Given the description of an element on the screen output the (x, y) to click on. 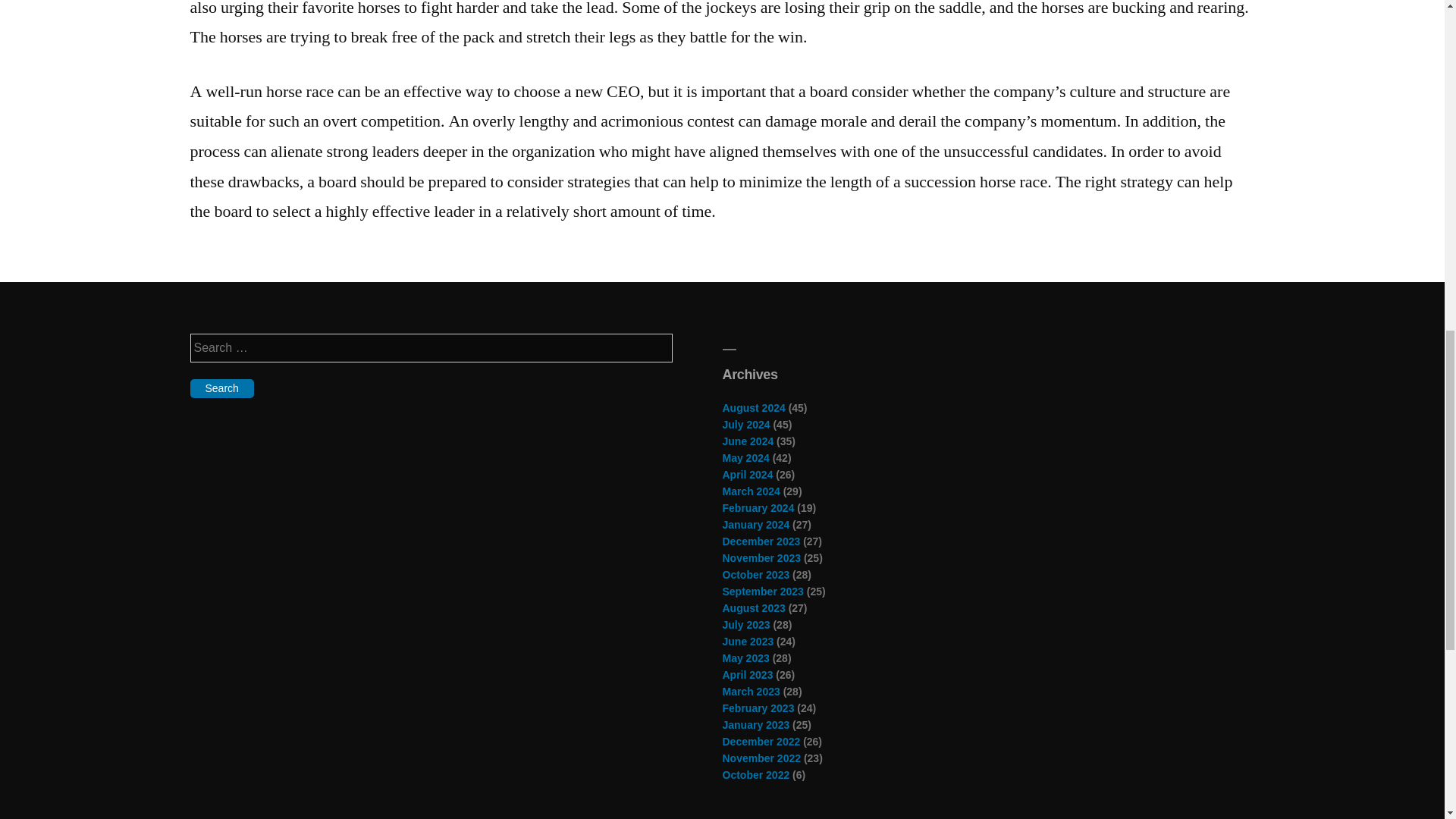
April 2024 (747, 474)
September 2023 (762, 591)
February 2024 (757, 508)
Search (221, 388)
December 2023 (760, 541)
May 2023 (745, 657)
May 2024 (745, 458)
March 2023 (750, 691)
August 2024 (753, 408)
November 2022 (761, 758)
